Given the description of an element on the screen output the (x, y) to click on. 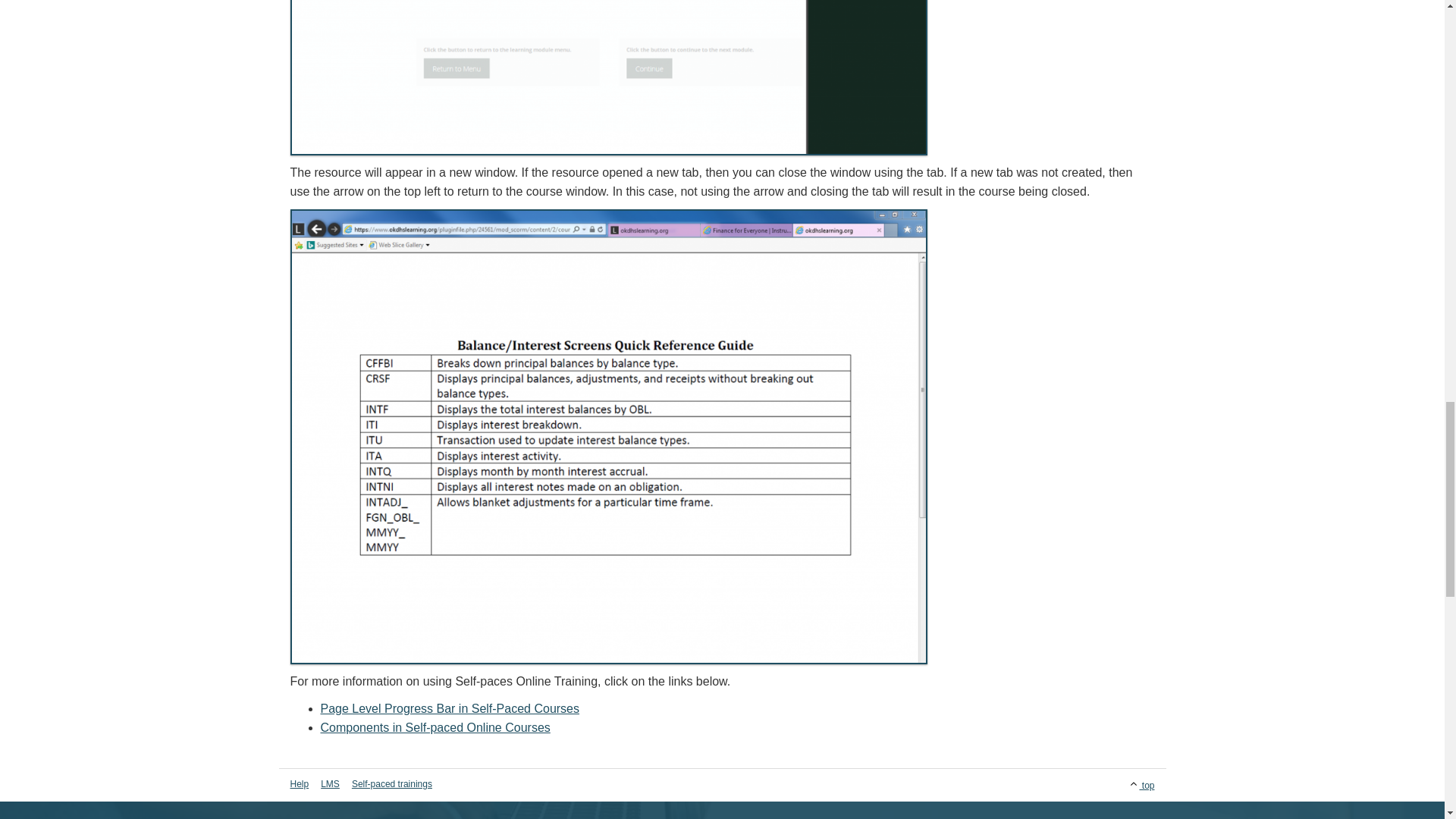
top (1091, 783)
Components in Self-paced Online Courses (435, 727)
Help (301, 783)
Page Level Progress Bar in Self-Paced Courses (449, 707)
LMS (330, 783)
Self-paced trainings (392, 783)
